Given the description of an element on the screen output the (x, y) to click on. 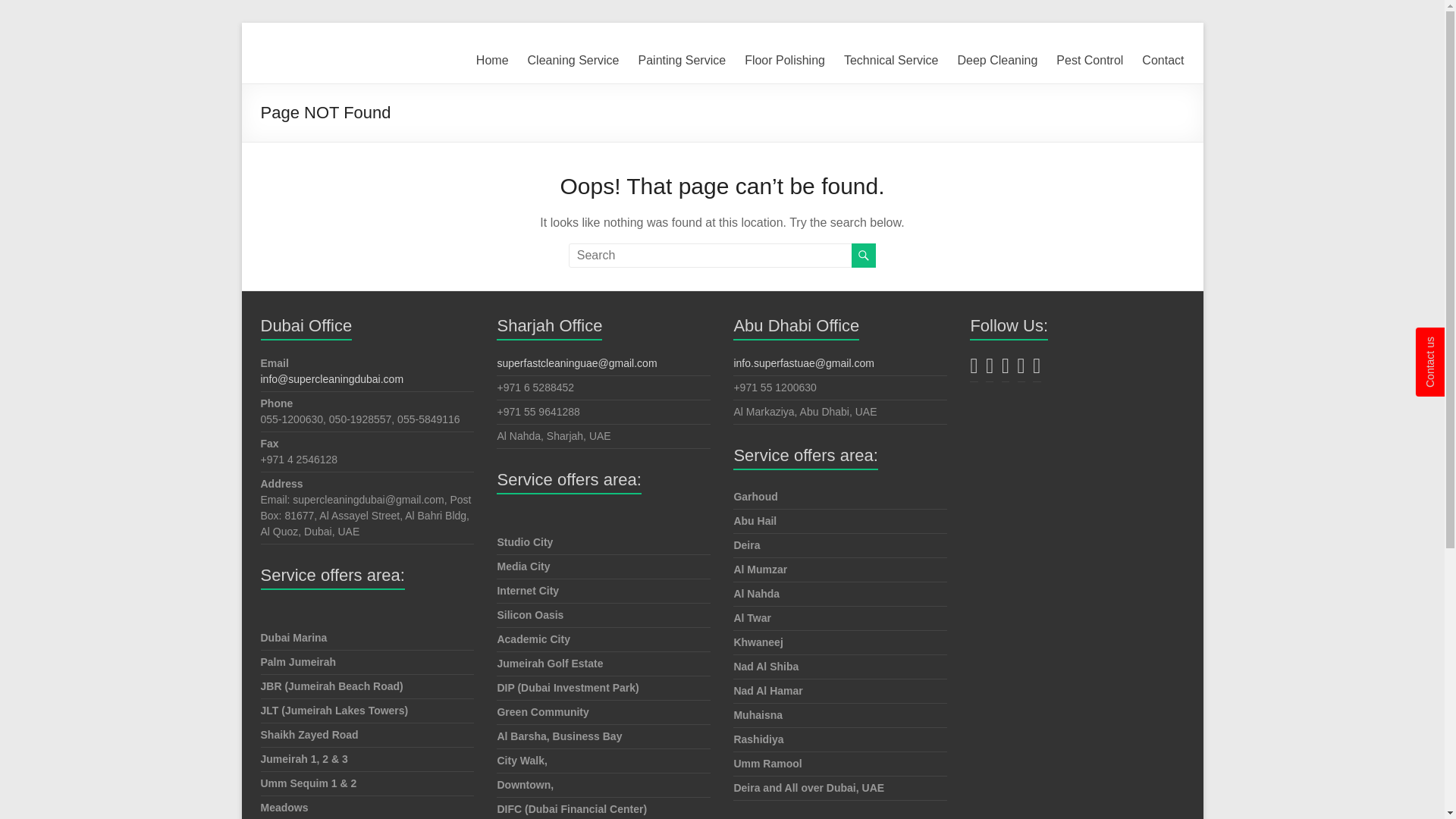
Floor Polishing (784, 60)
Home (492, 60)
Painting Service (682, 60)
Cleaning Service (573, 60)
Technical Service (891, 60)
